Given the description of an element on the screen output the (x, y) to click on. 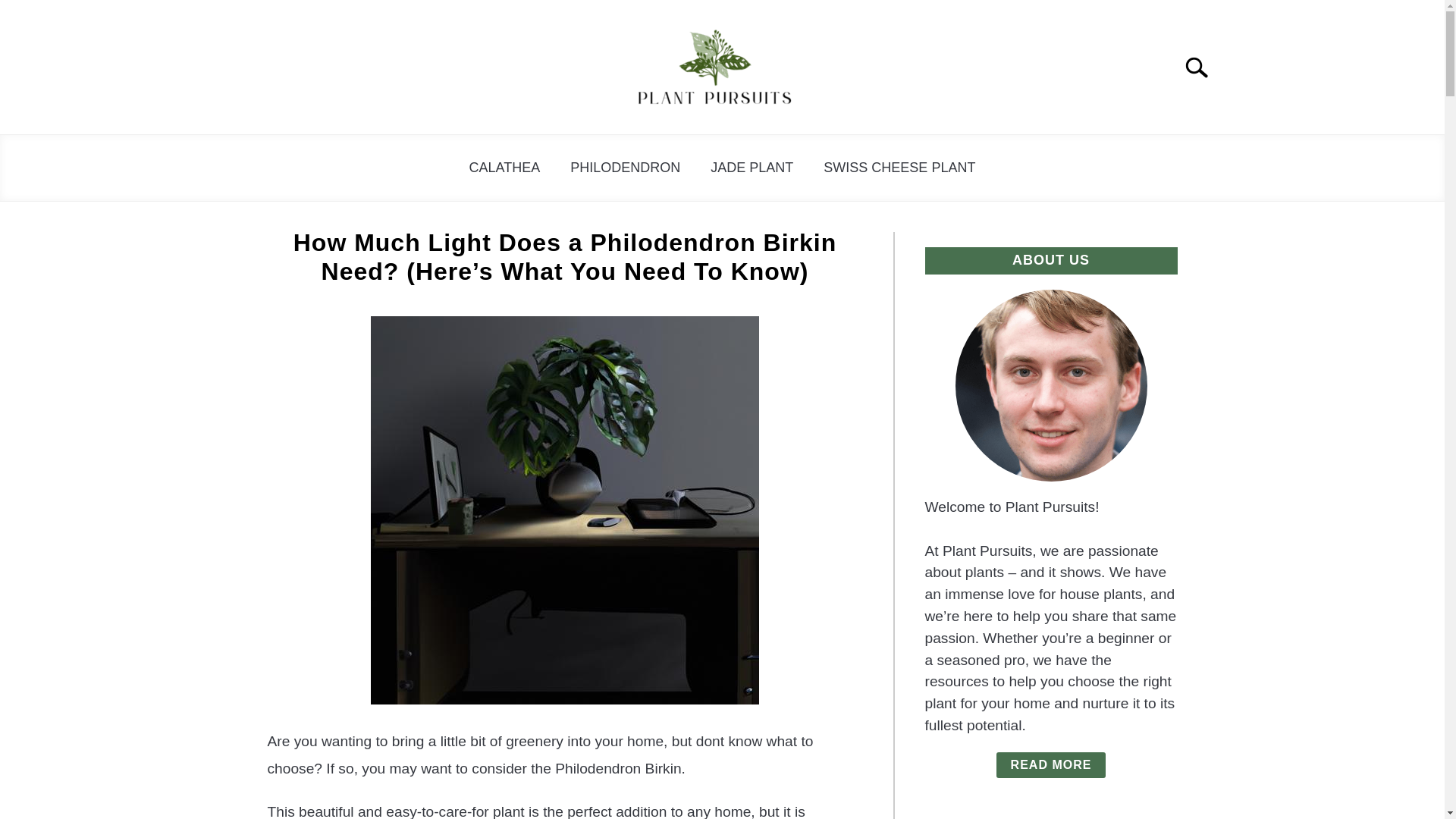
Search (1203, 67)
PHILODENDRON (624, 167)
READ MORE (1050, 765)
SWISS CHEESE PLANT (899, 167)
CALATHEA (505, 167)
JADE PLANT (751, 167)
